Given the description of an element on the screen output the (x, y) to click on. 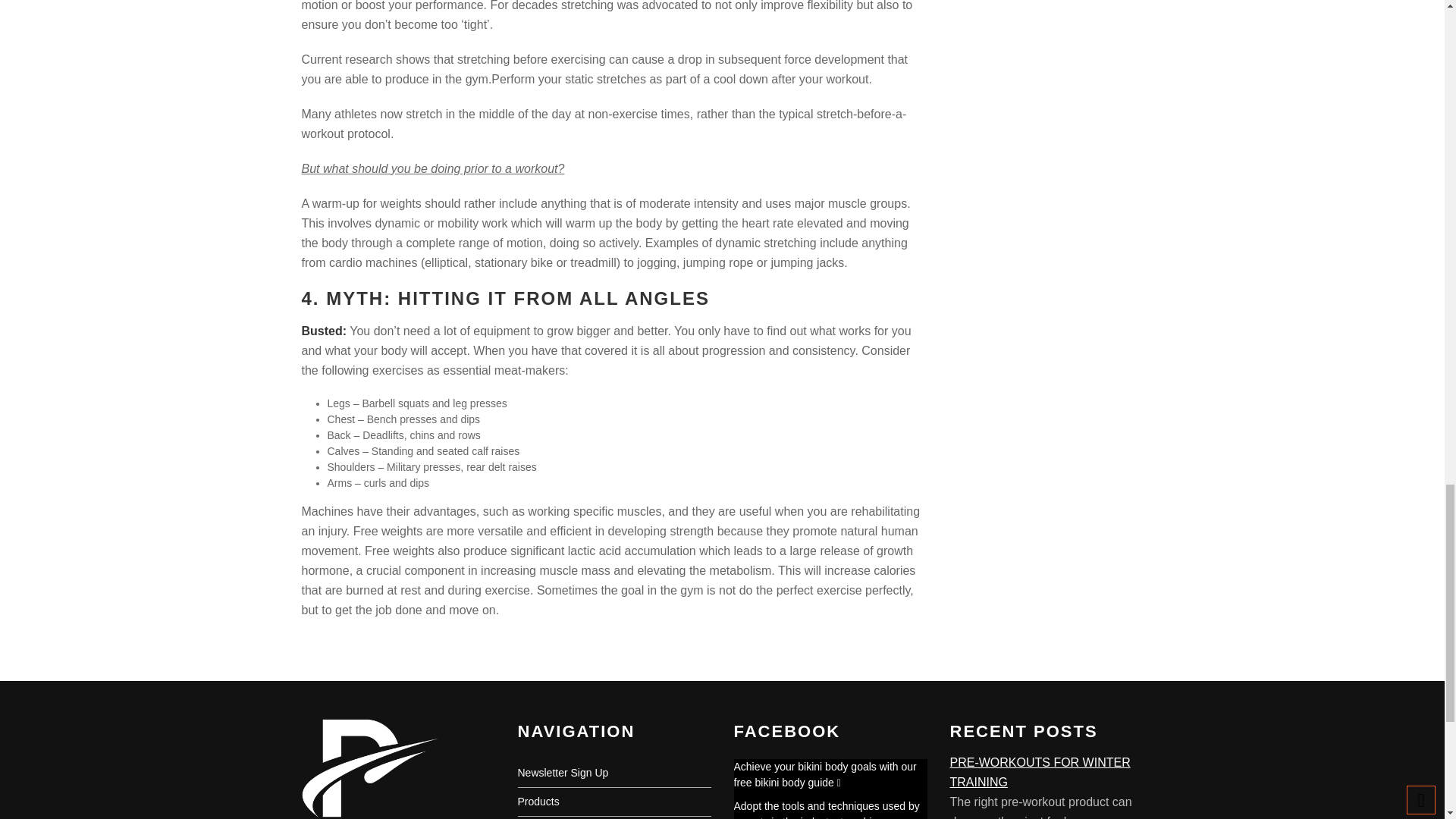
Newsletter Sign Up (562, 772)
Products (537, 801)
